Given the description of an element on the screen output the (x, y) to click on. 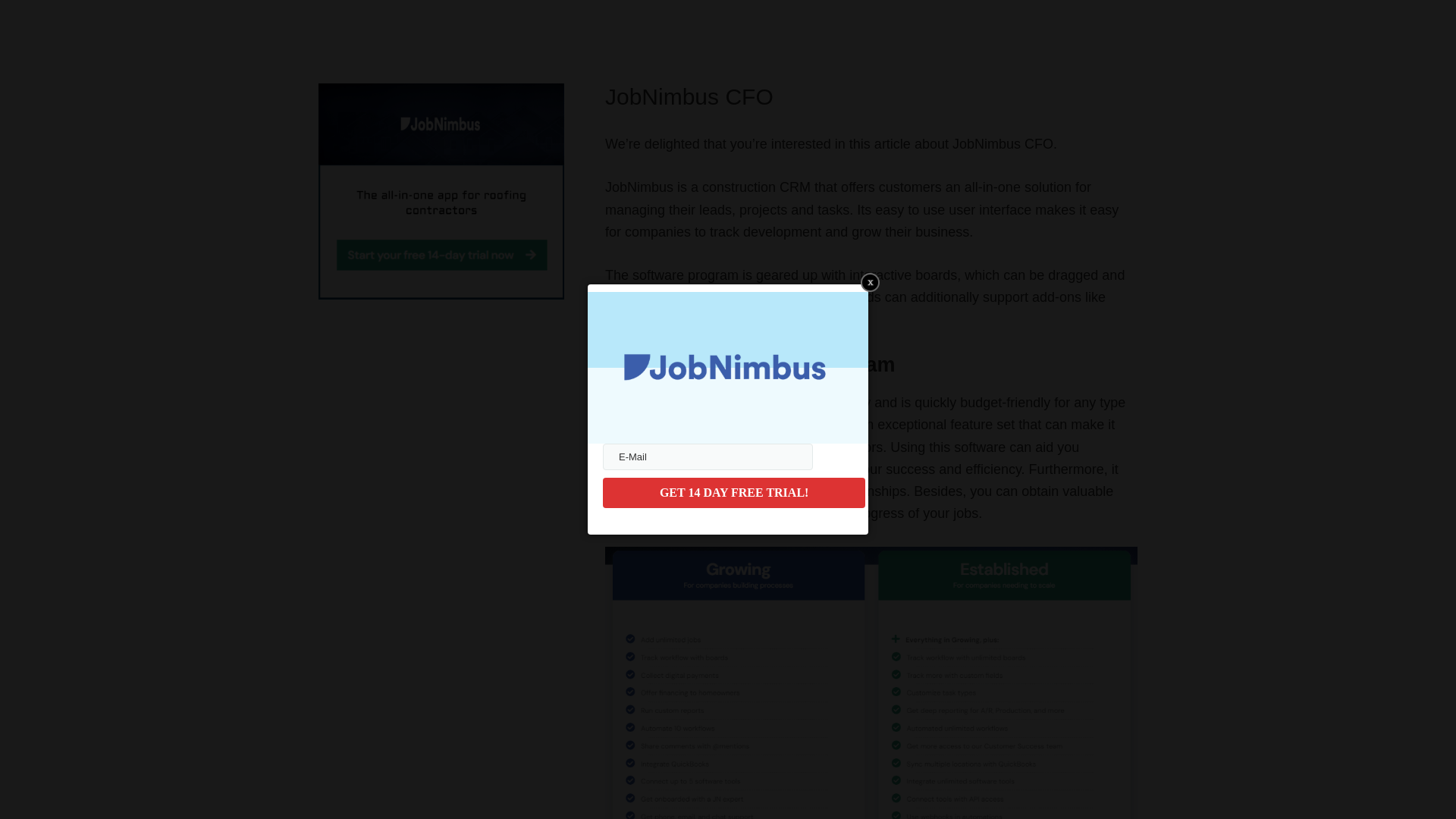
GET 14 DAY FREE TRIAL! (733, 492)
GET 14 DAY FREE TRIAL! (733, 492)
